Given the description of an element on the screen output the (x, y) to click on. 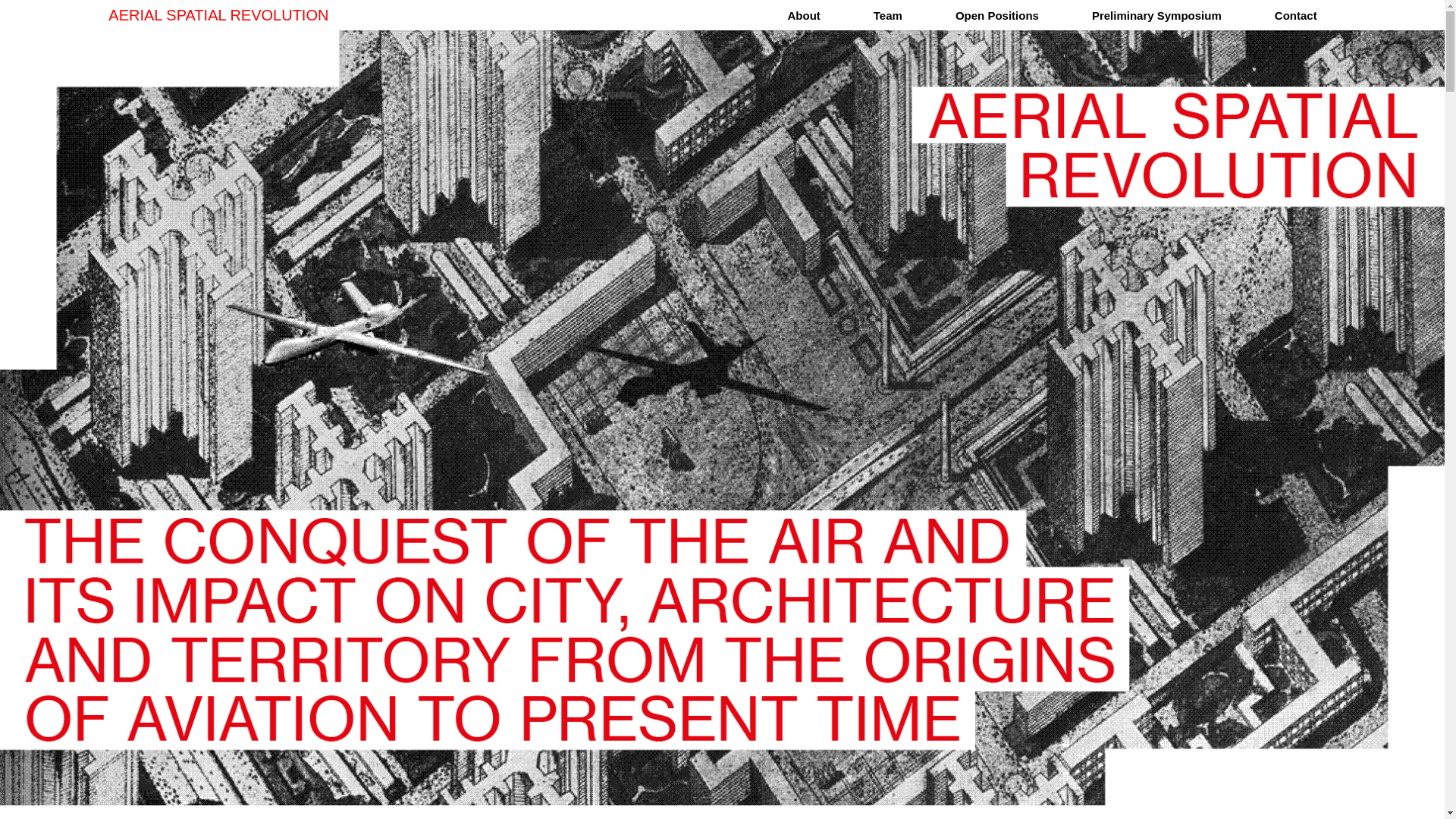
AERIAL SPATIAL REVOLUTION Element type: text (218, 14)
Contact Element type: text (1295, 14)
Team Element type: text (887, 14)
Open Positions Element type: text (996, 14)
Preliminary Symposium Element type: text (1156, 14)
About Element type: text (803, 14)
